Given the description of an element on the screen output the (x, y) to click on. 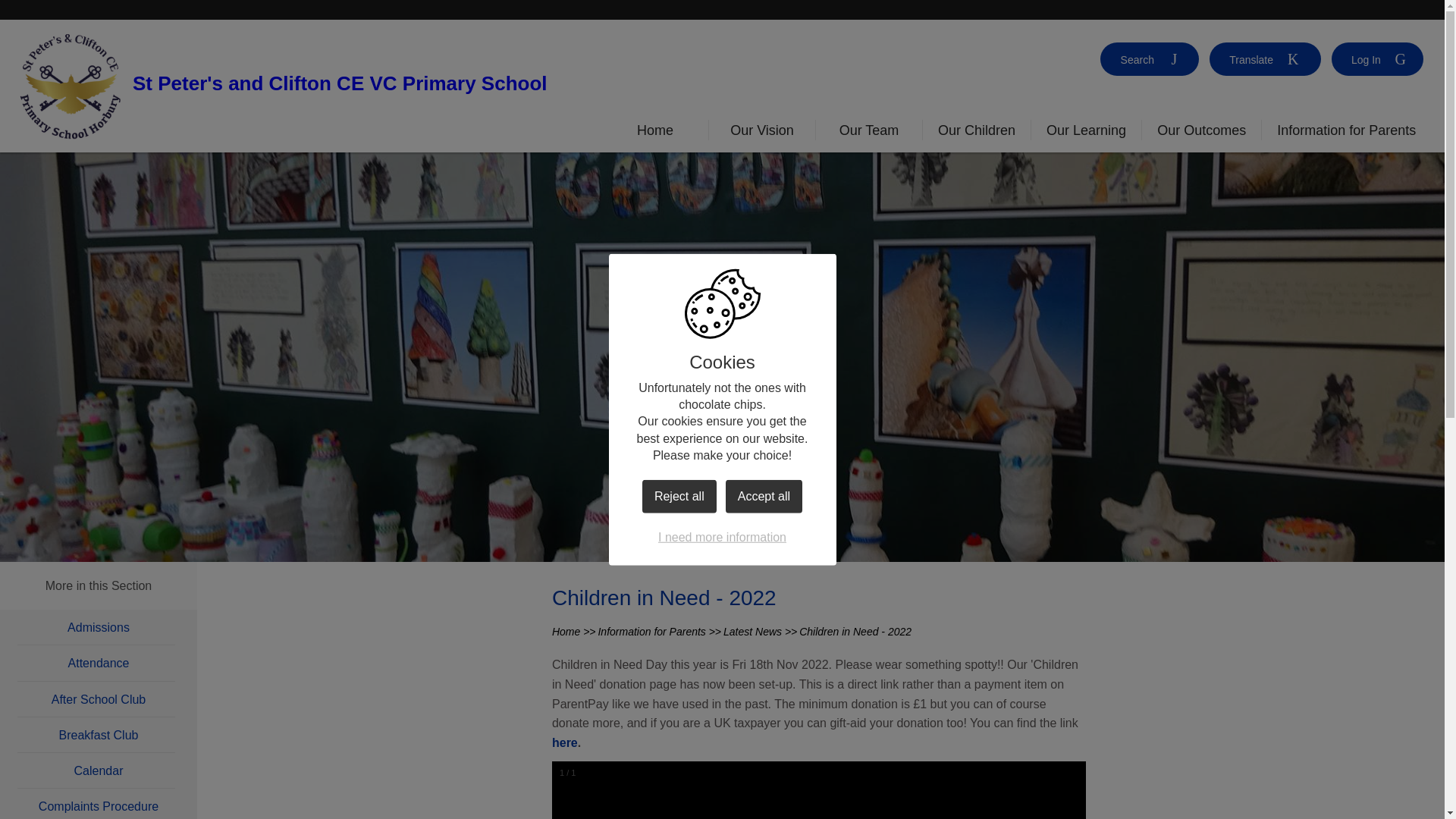
Home Page (70, 86)
Our Children (975, 133)
Our Team (869, 133)
Our Vision (761, 133)
Home (655, 133)
